Given the description of an element on the screen output the (x, y) to click on. 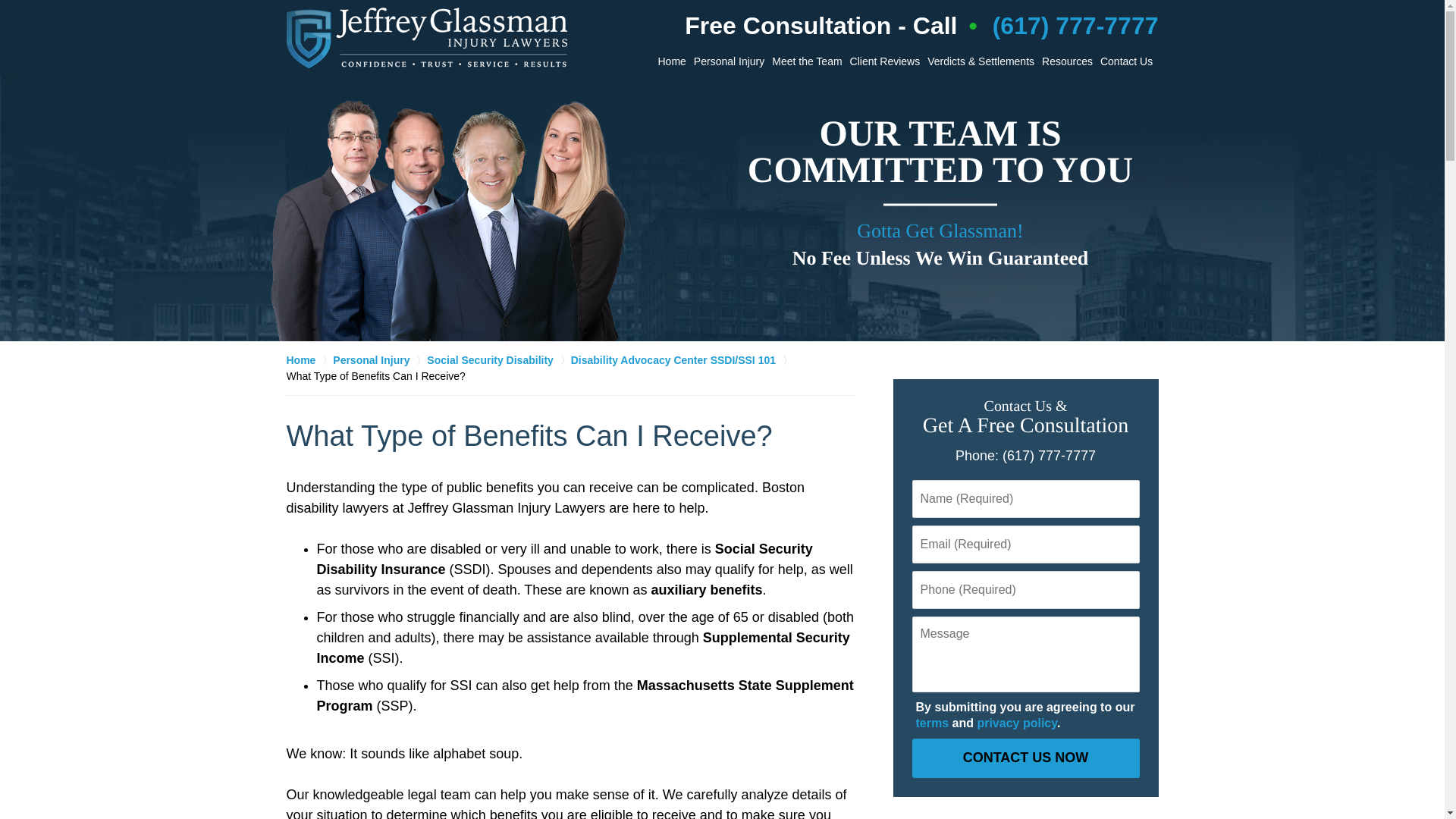
Personal Injury (379, 359)
Social Security Disability (498, 359)
CONTACT US NOW (1024, 758)
Home (309, 359)
Resources (1067, 61)
Jeffrey Glassman Injury Lawyers Home (426, 37)
Contact Us (1126, 61)
Personal Injury (729, 61)
Home (670, 61)
terms (932, 722)
